Given the description of an element on the screen output the (x, y) to click on. 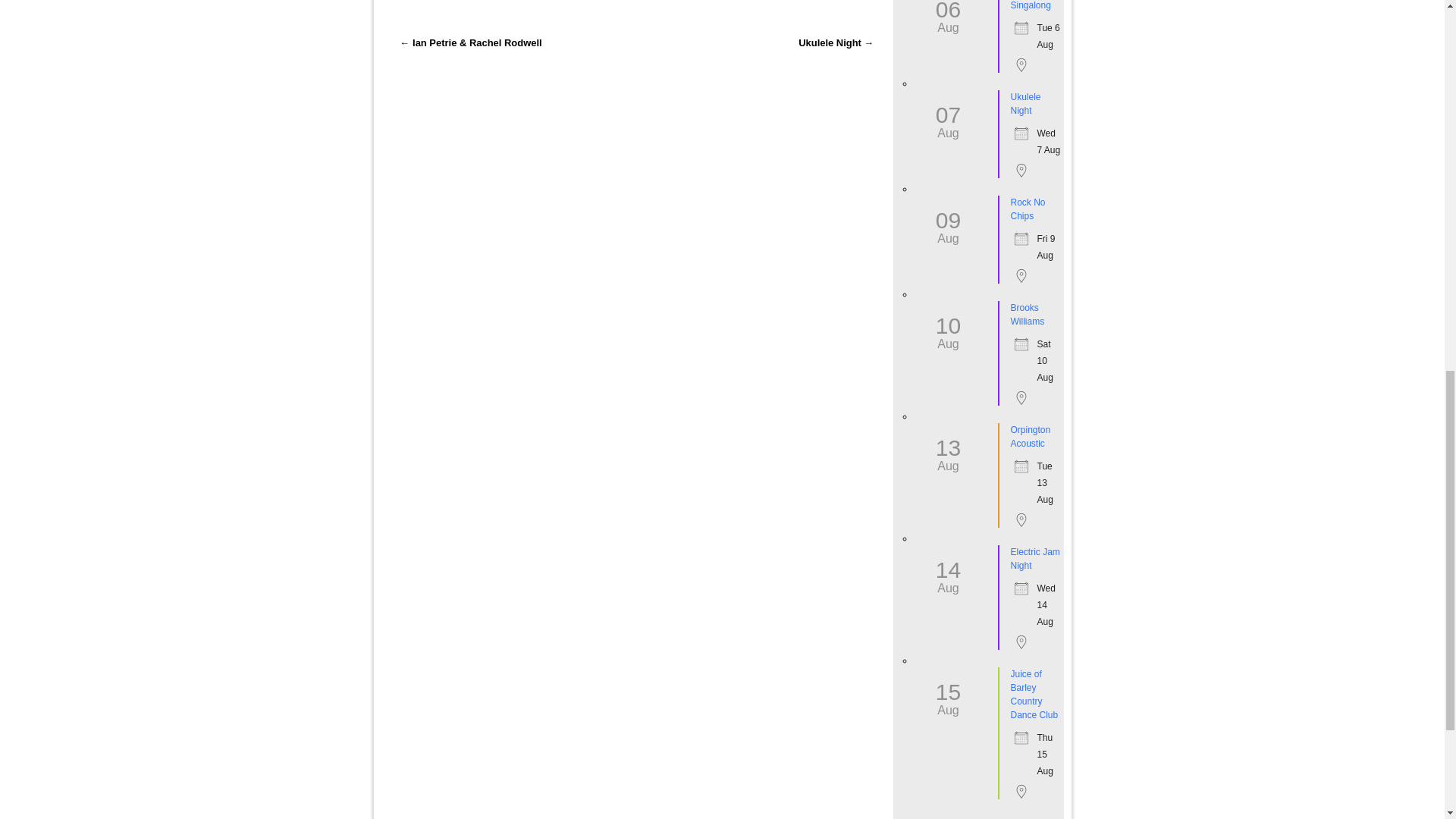
Informal Singalong (1029, 5)
Ukulele Night (1025, 103)
